Given the description of an element on the screen output the (x, y) to click on. 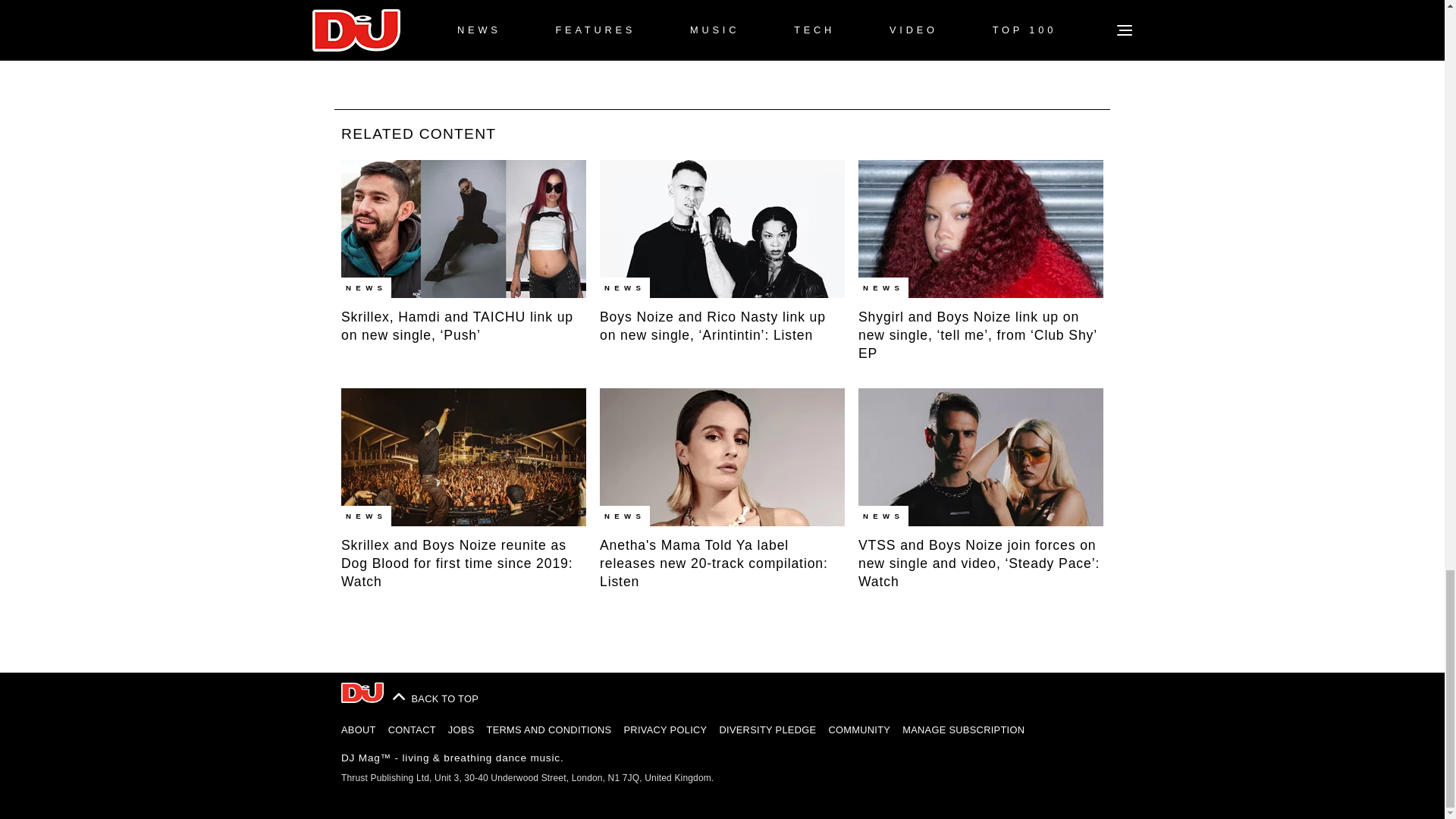
DjMag (362, 691)
